Given the description of an element on the screen output the (x, y) to click on. 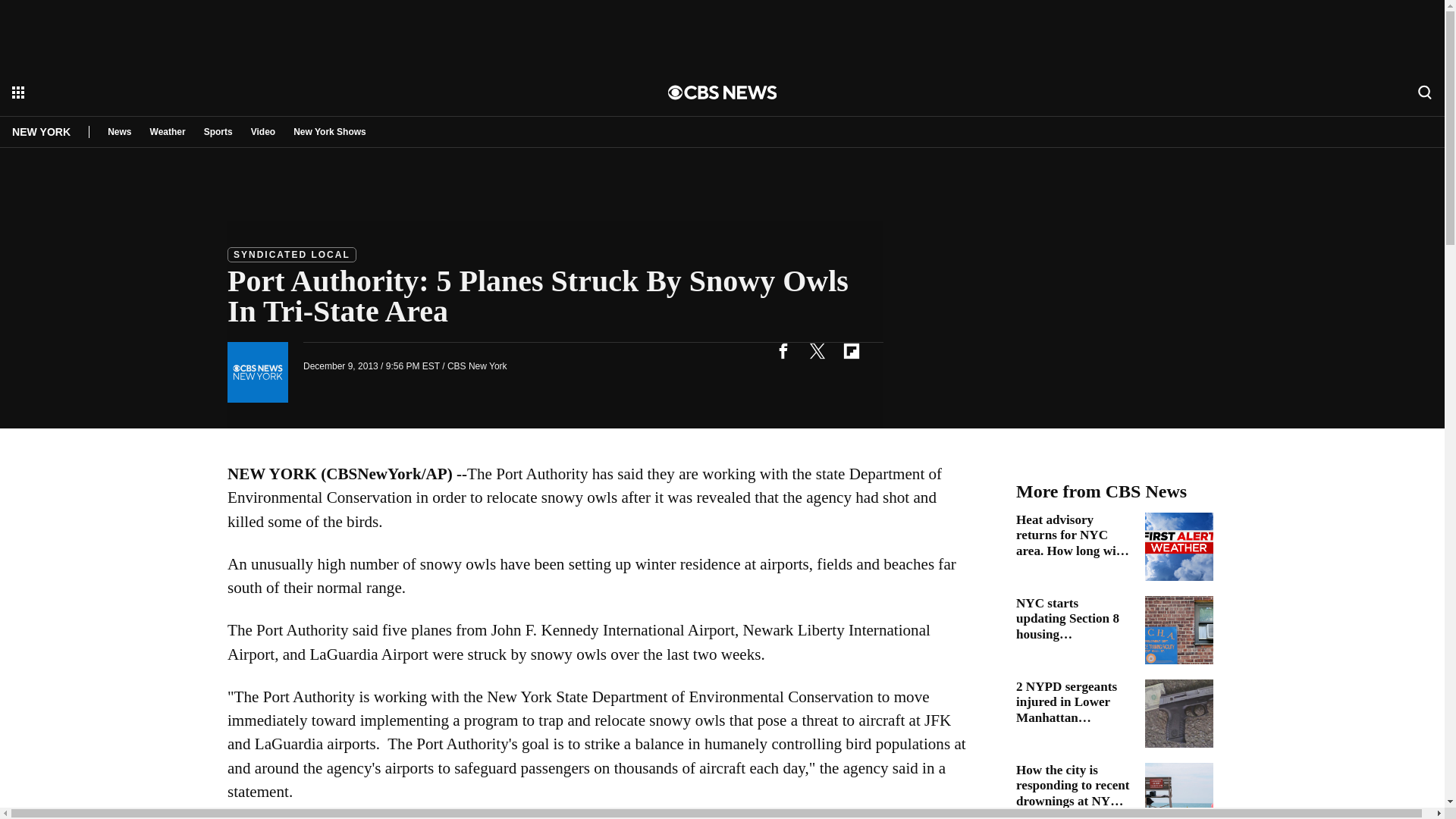
flipboard (850, 350)
twitter (816, 350)
facebook (782, 350)
